Given the description of an element on the screen output the (x, y) to click on. 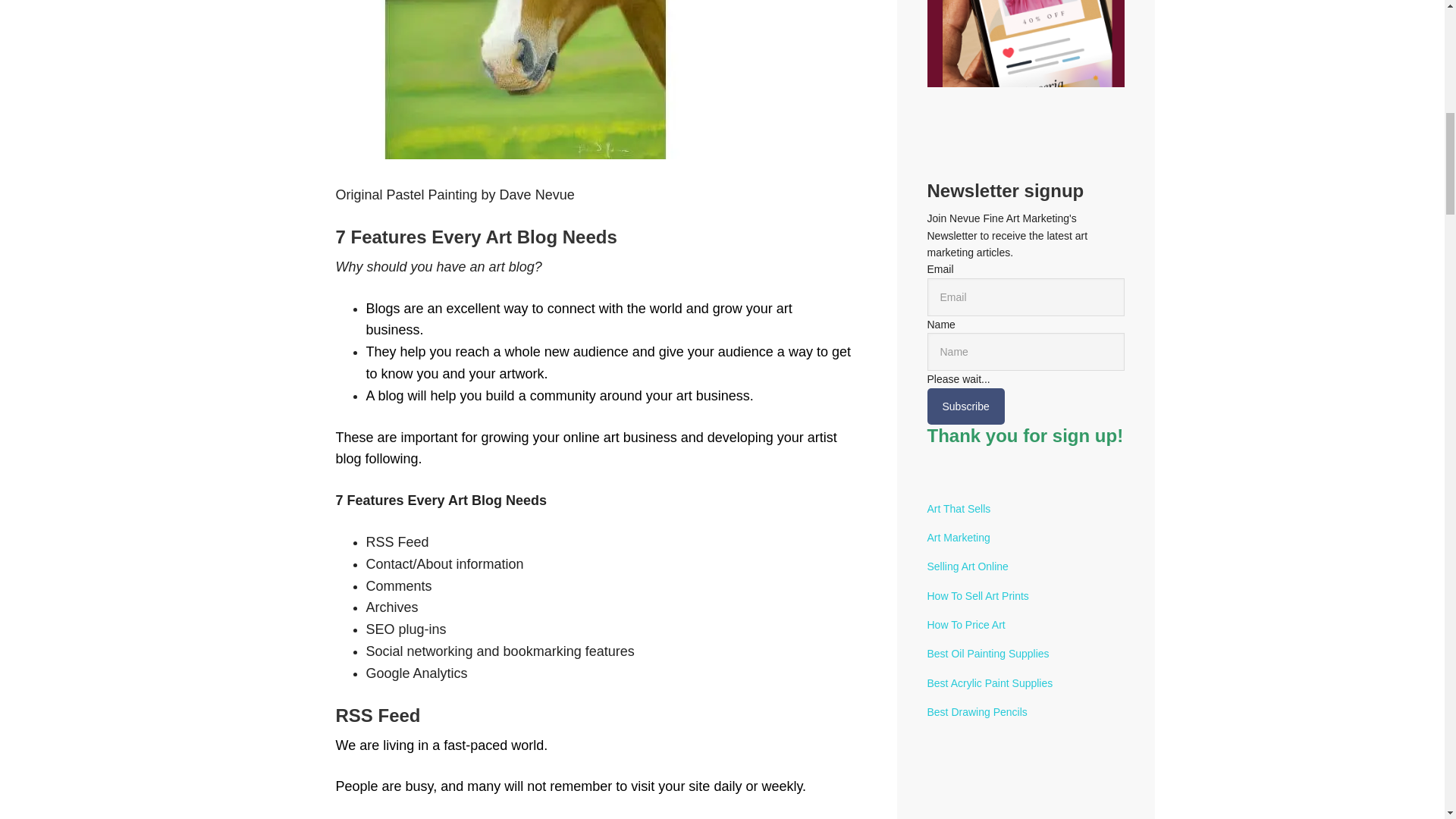
Selling Art Online (966, 566)
Art Marketing (958, 537)
Subscribe (965, 406)
Art That Sells (958, 508)
